Given the description of an element on the screen output the (x, y) to click on. 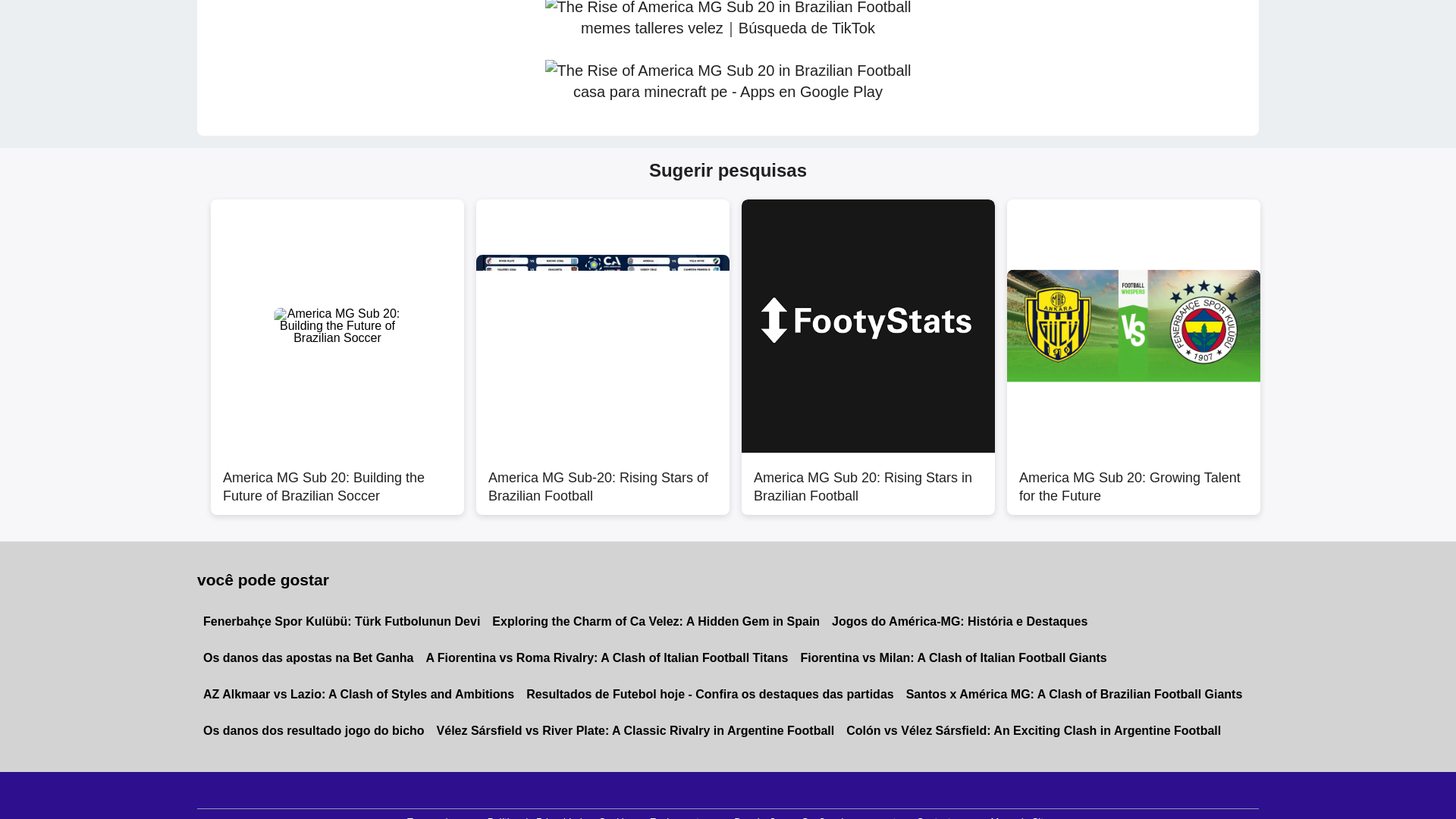
Exploring the Charm of Ca Velez: A Hidden Gem in Spain (655, 621)
America MG Sub 20: Building the Future of Brazilian Soccer (337, 479)
Os danos das apostas na Bet Ganha (307, 657)
AZ Alkmaar vs Lazio: A Clash of Styles and Ambitions (357, 694)
Termos de uso (439, 814)
America MG Sub-20: Rising Stars of Brazilian Football (602, 479)
Fiorentina vs Milan: A Clash of Italian Football Giants (952, 657)
America MG Sub 20: Rising Stars in Brazilian Football (867, 479)
Os danos dos resultado jogo do bicho (313, 730)
